Given the description of an element on the screen output the (x, y) to click on. 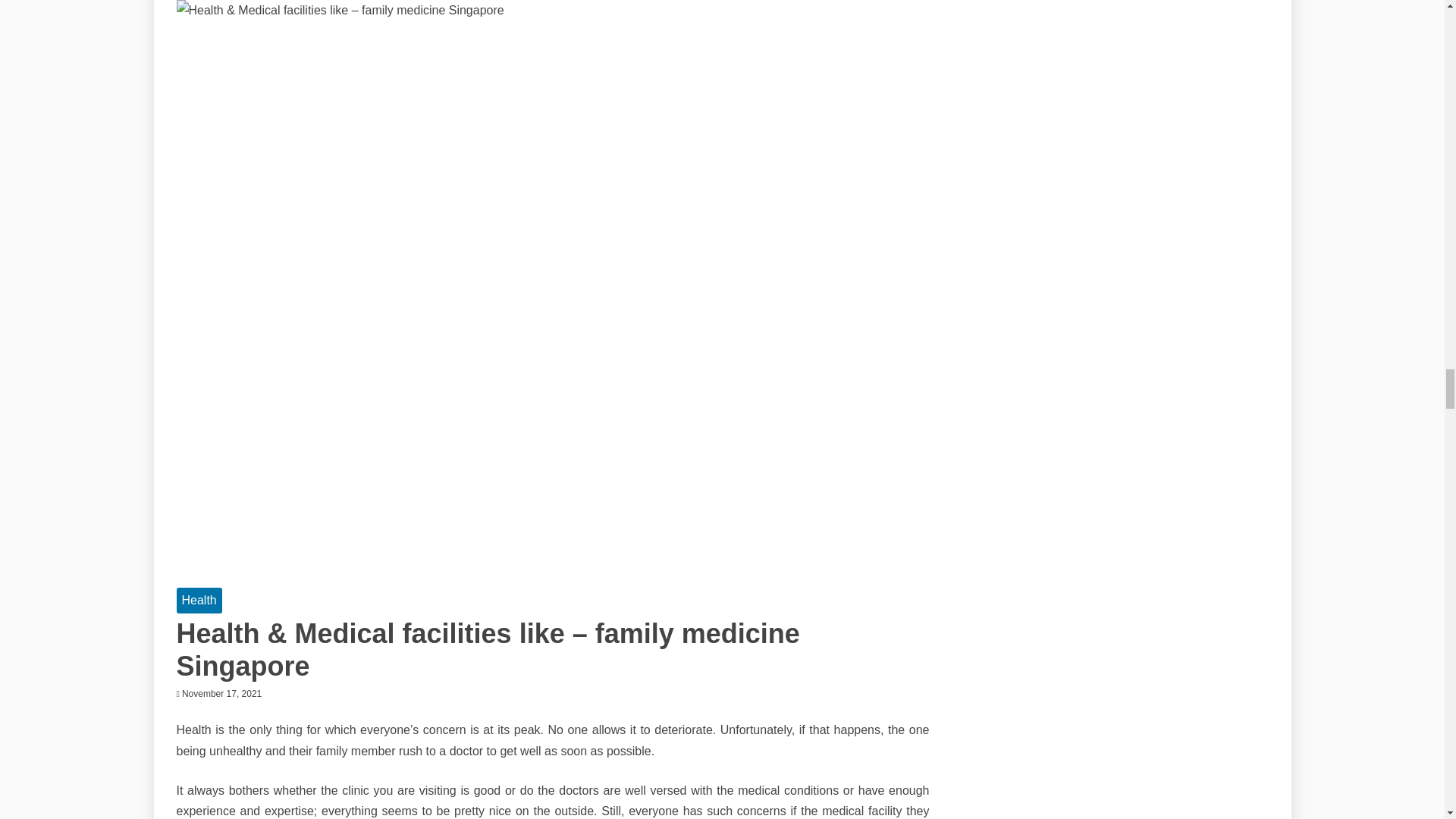
Health (198, 600)
